Given the description of an element on the screen output the (x, y) to click on. 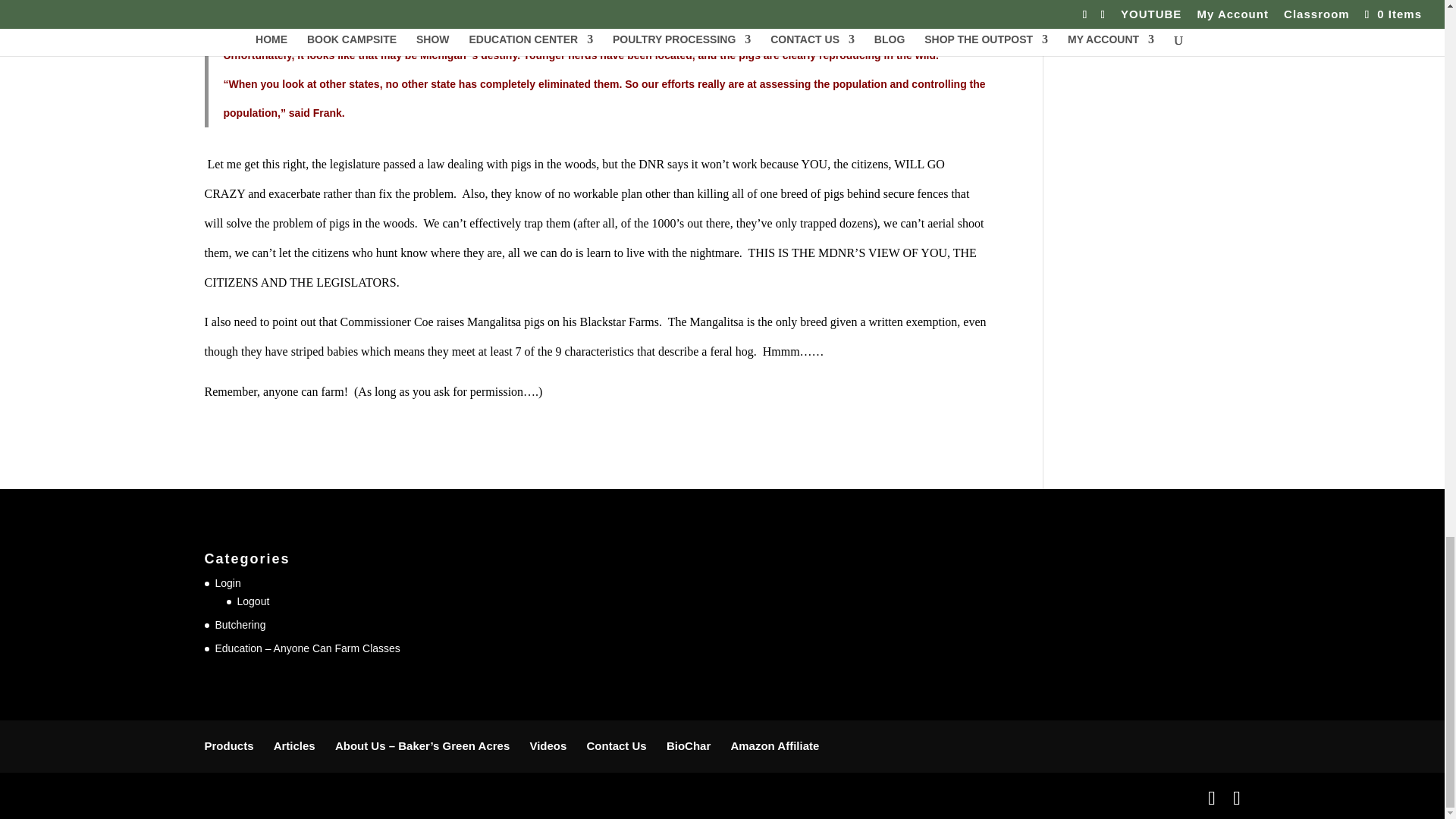
Articles (294, 745)
Contact Us (616, 745)
Login (228, 582)
Products (229, 745)
Amazon Affiliate (774, 745)
BioChar (688, 745)
Videos (547, 745)
Logout (252, 601)
Login (228, 582)
Logout (252, 601)
